Given the description of an element on the screen output the (x, y) to click on. 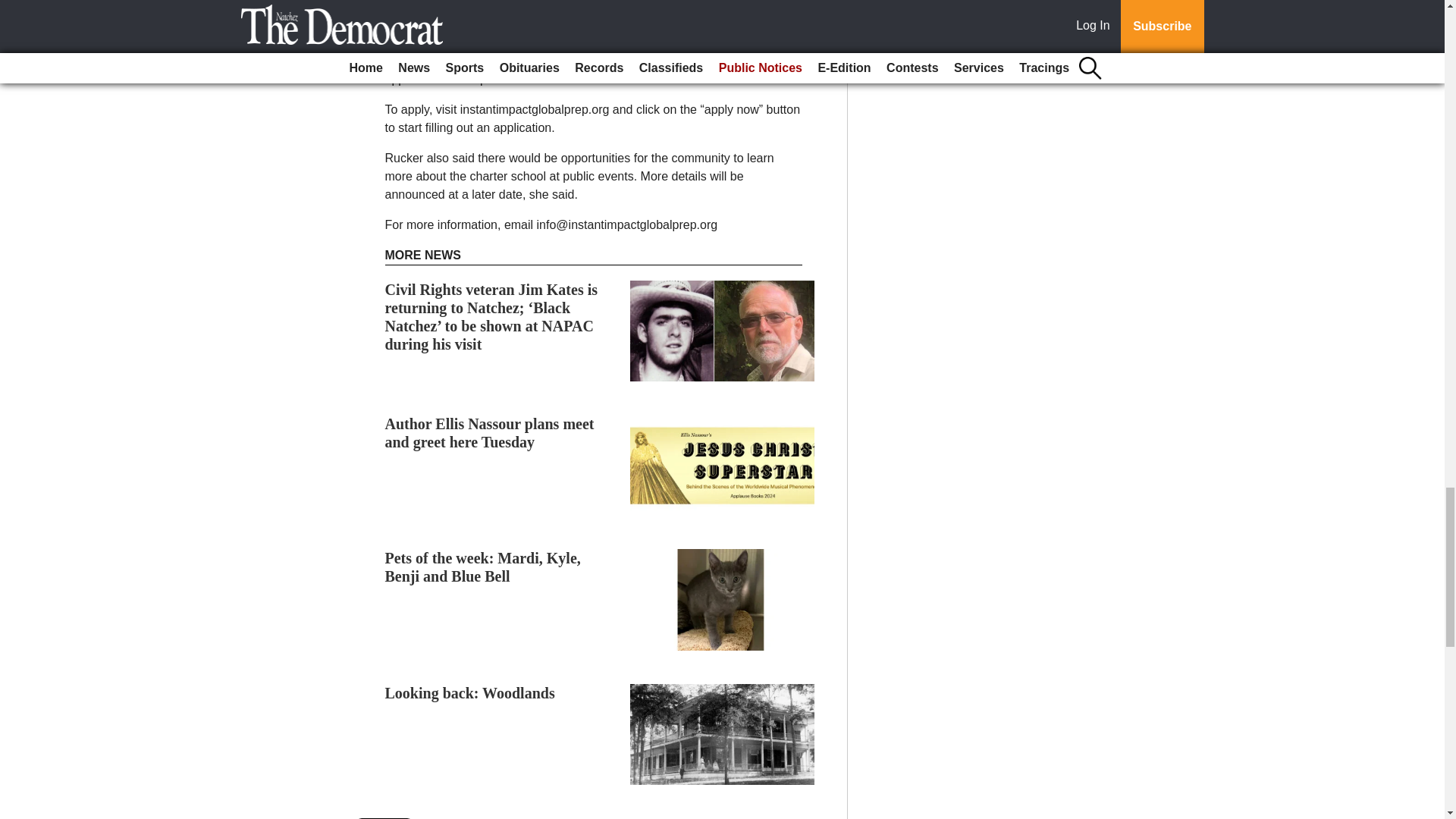
Author Ellis Nassour plans meet and greet here Tuesday (489, 432)
Pets of the week: Mardi, Kyle, Benji and Blue Bell (482, 566)
Author Ellis Nassour plans meet and greet here Tuesday (489, 432)
Looking back: Woodlands (469, 692)
